Given the description of an element on the screen output the (x, y) to click on. 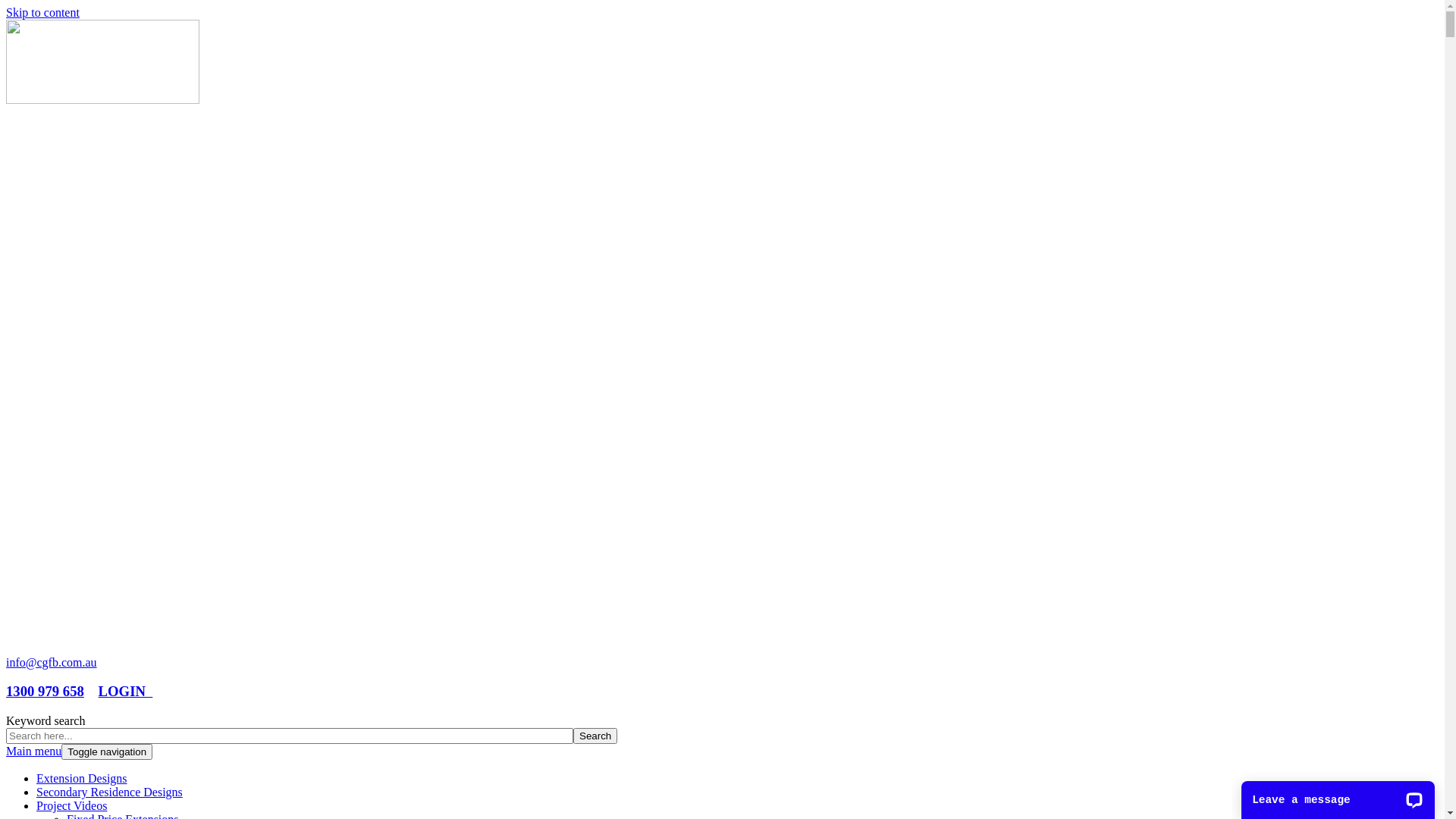
Main menu Element type: text (33, 750)
Project Videos Element type: text (71, 805)
info@cgfb.com.au Element type: text (51, 661)
Search Element type: text (595, 735)
Toggle navigation Element type: text (106, 751)
LOGIN   Element type: text (125, 691)
Skip to content Element type: text (42, 12)
1300 979 658 Element type: text (45, 691)
Extension Designs Element type: text (81, 777)
Secondary Residence Designs Element type: text (109, 791)
